Given the description of an element on the screen output the (x, y) to click on. 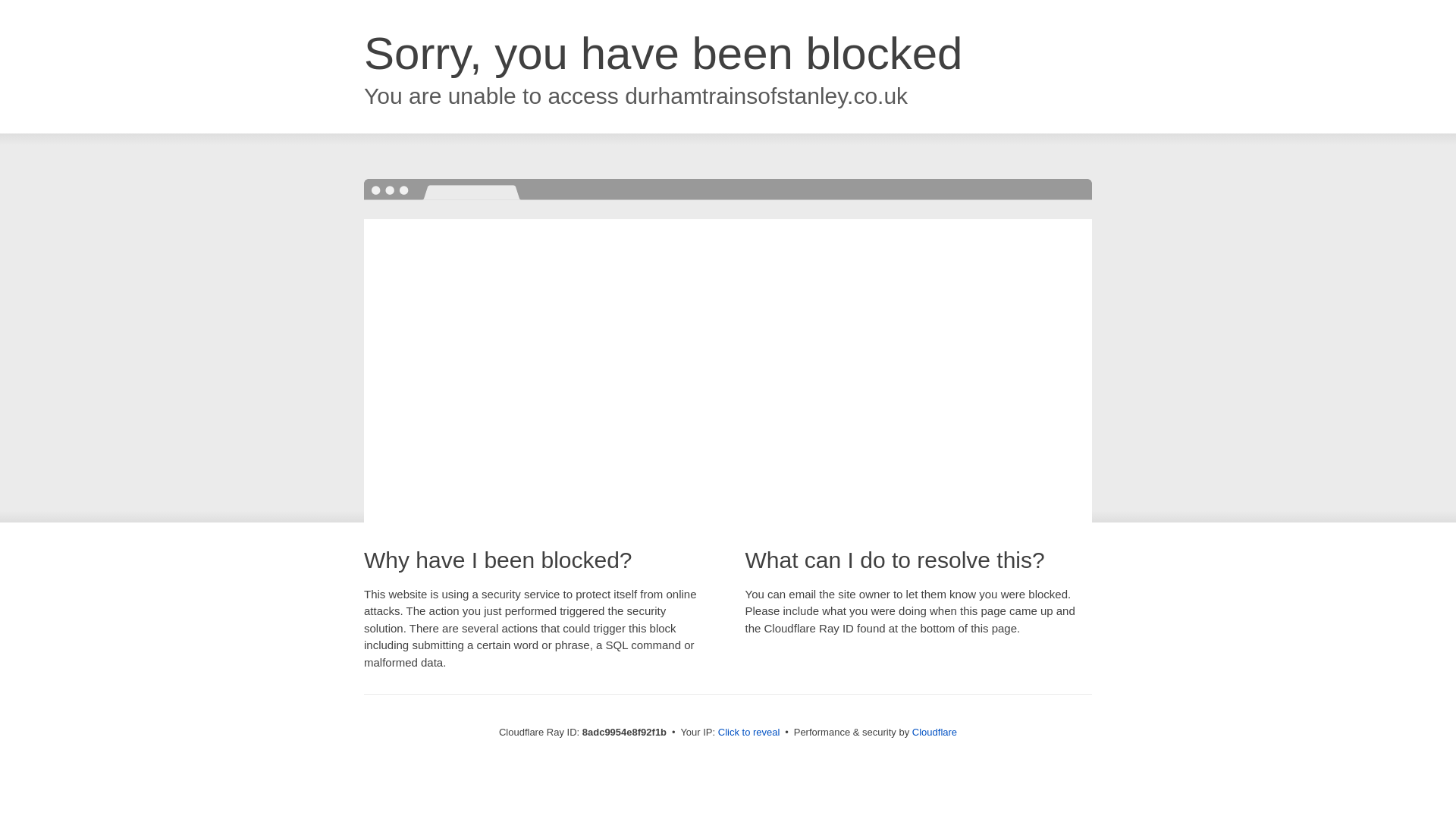
Click to reveal (748, 732)
Cloudflare (934, 731)
